Given the description of an element on the screen output the (x, y) to click on. 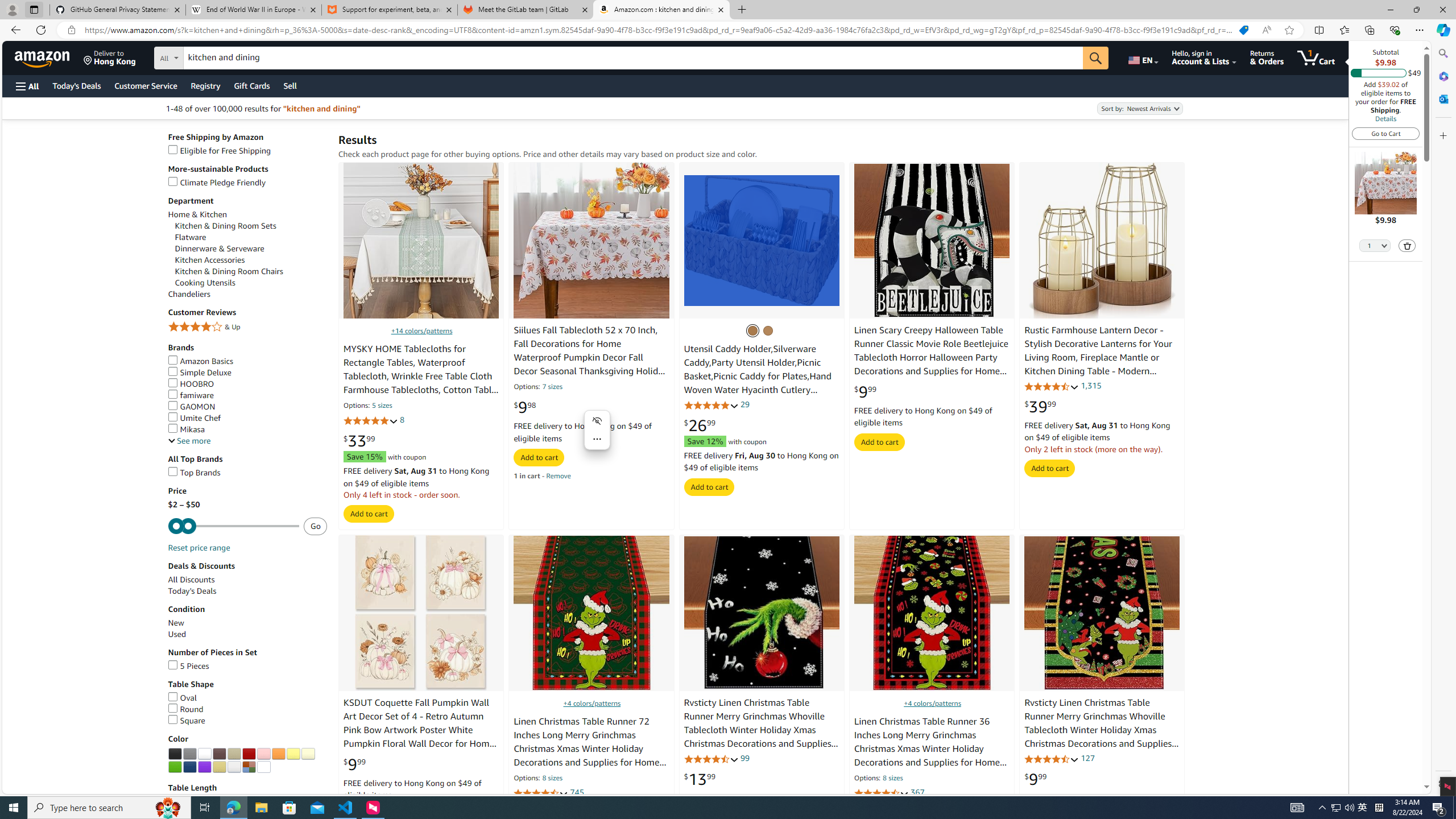
Go back to filtering menu (48, 788)
AutomationID: p_n_feature_twenty_browse-bin/3254100011 (204, 753)
Amazon Basics (247, 361)
Kitchen & Dining Room Sets (225, 225)
Mikasa (186, 428)
Add to cart (1049, 467)
Registry (205, 85)
HOOBRO (190, 383)
See more, Brands (189, 440)
$39.99 (1040, 406)
Kitchen & Dining Room Chairs (250, 271)
